Given the description of an element on the screen output the (x, y) to click on. 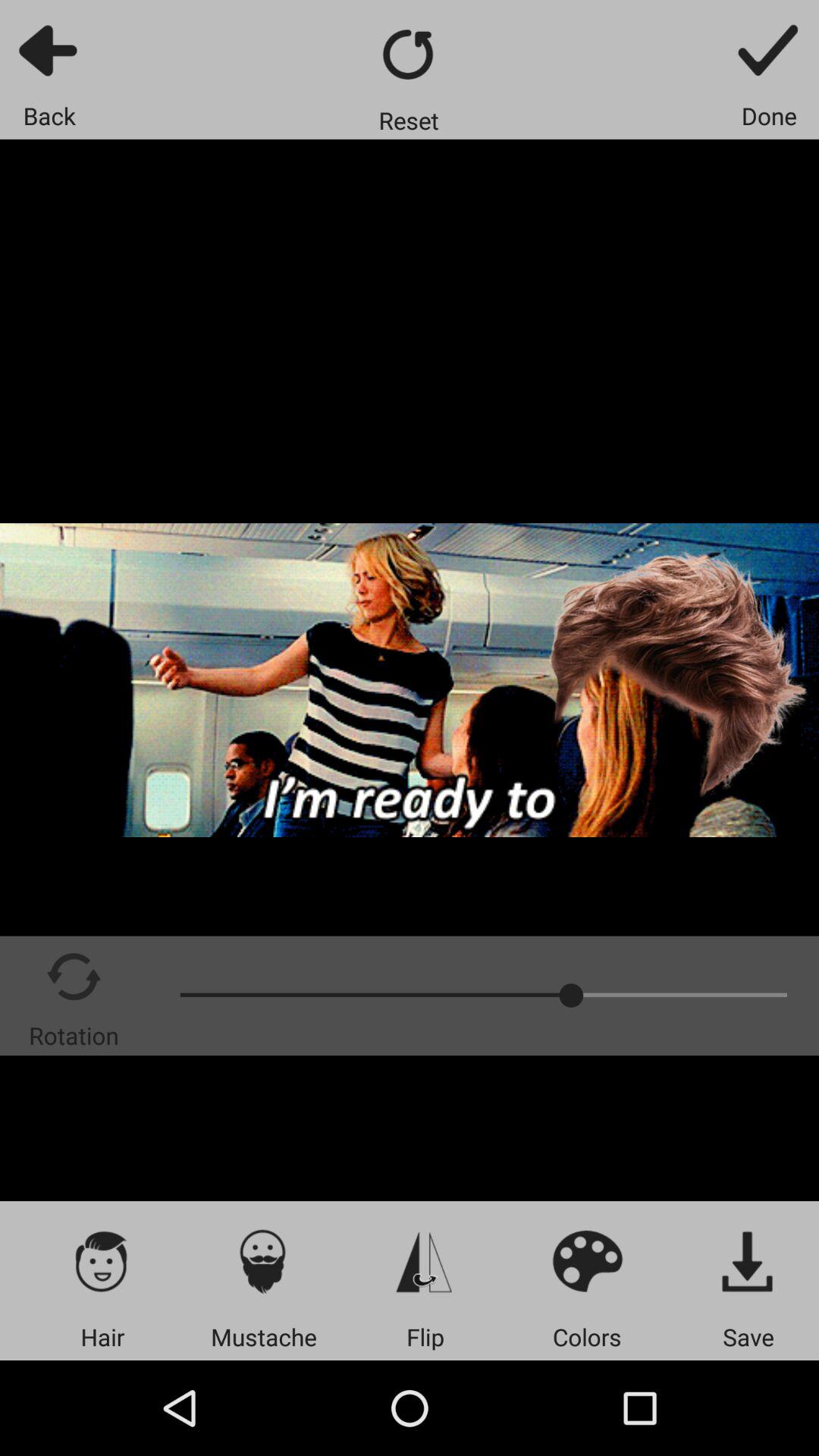
edit the colors (586, 1260)
